Given the description of an element on the screen output the (x, y) to click on. 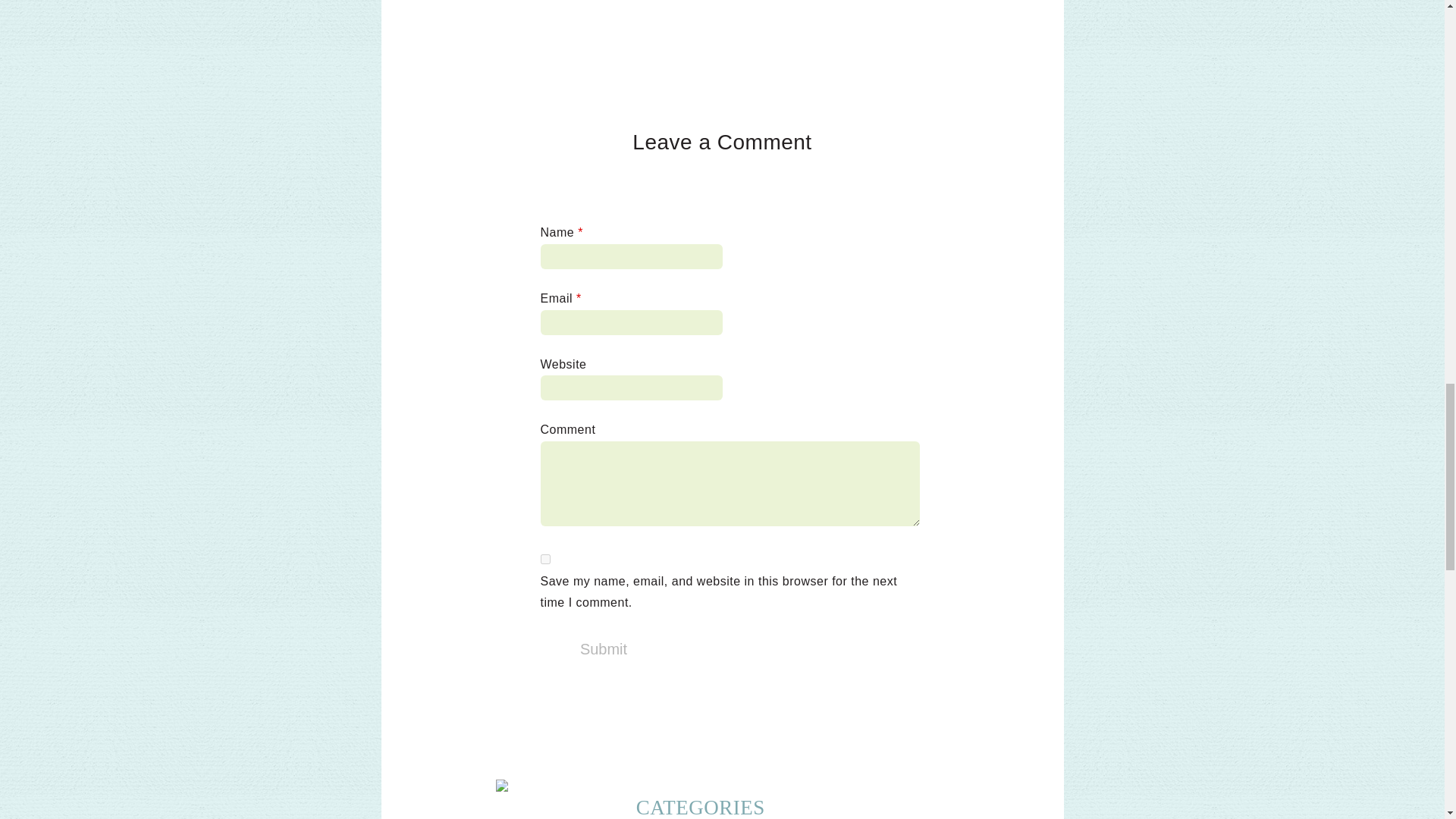
yes (545, 559)
Submit (603, 649)
